Given the description of an element on the screen output the (x, y) to click on. 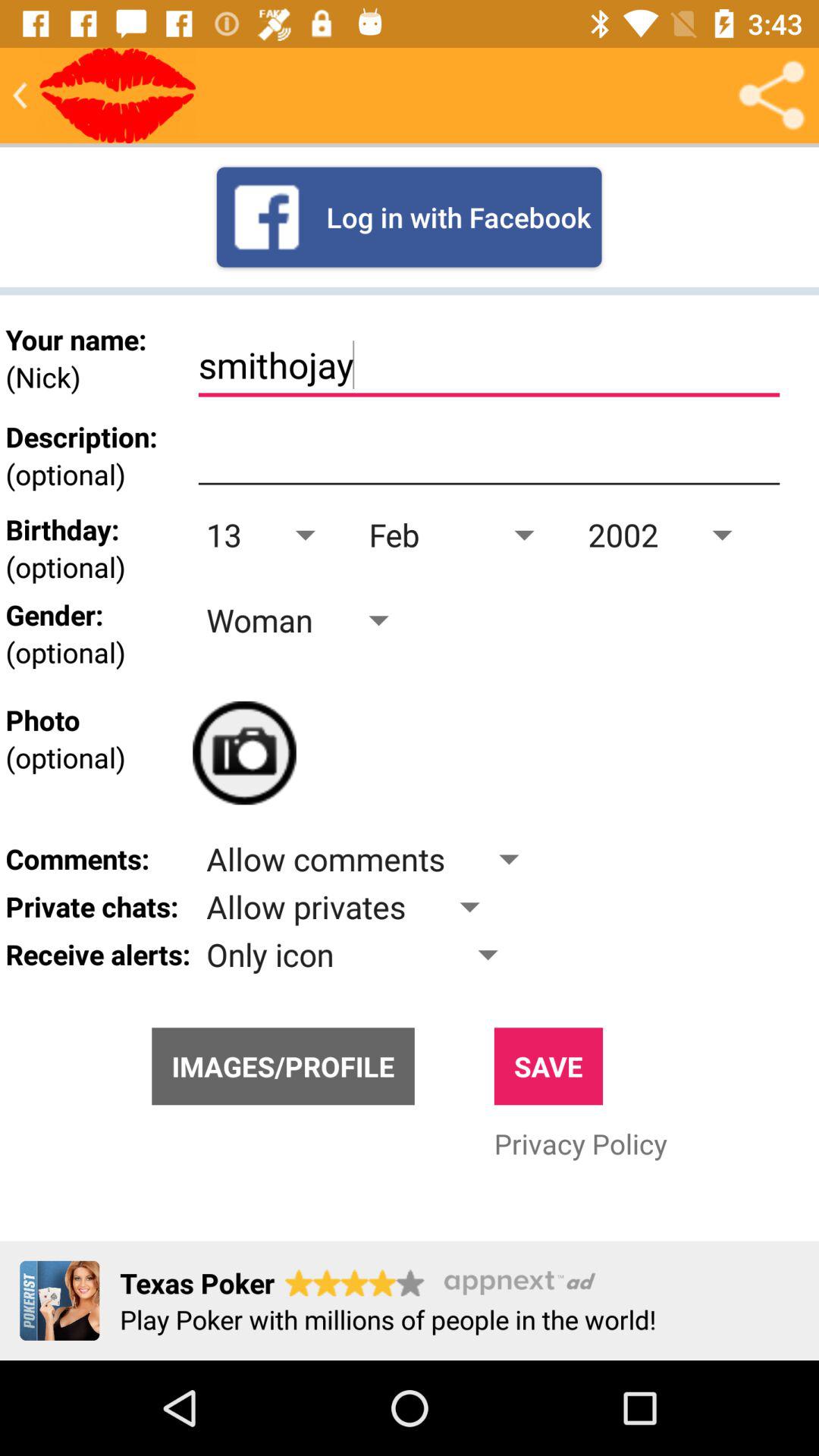
share the profile (771, 95)
